Given the description of an element on the screen output the (x, y) to click on. 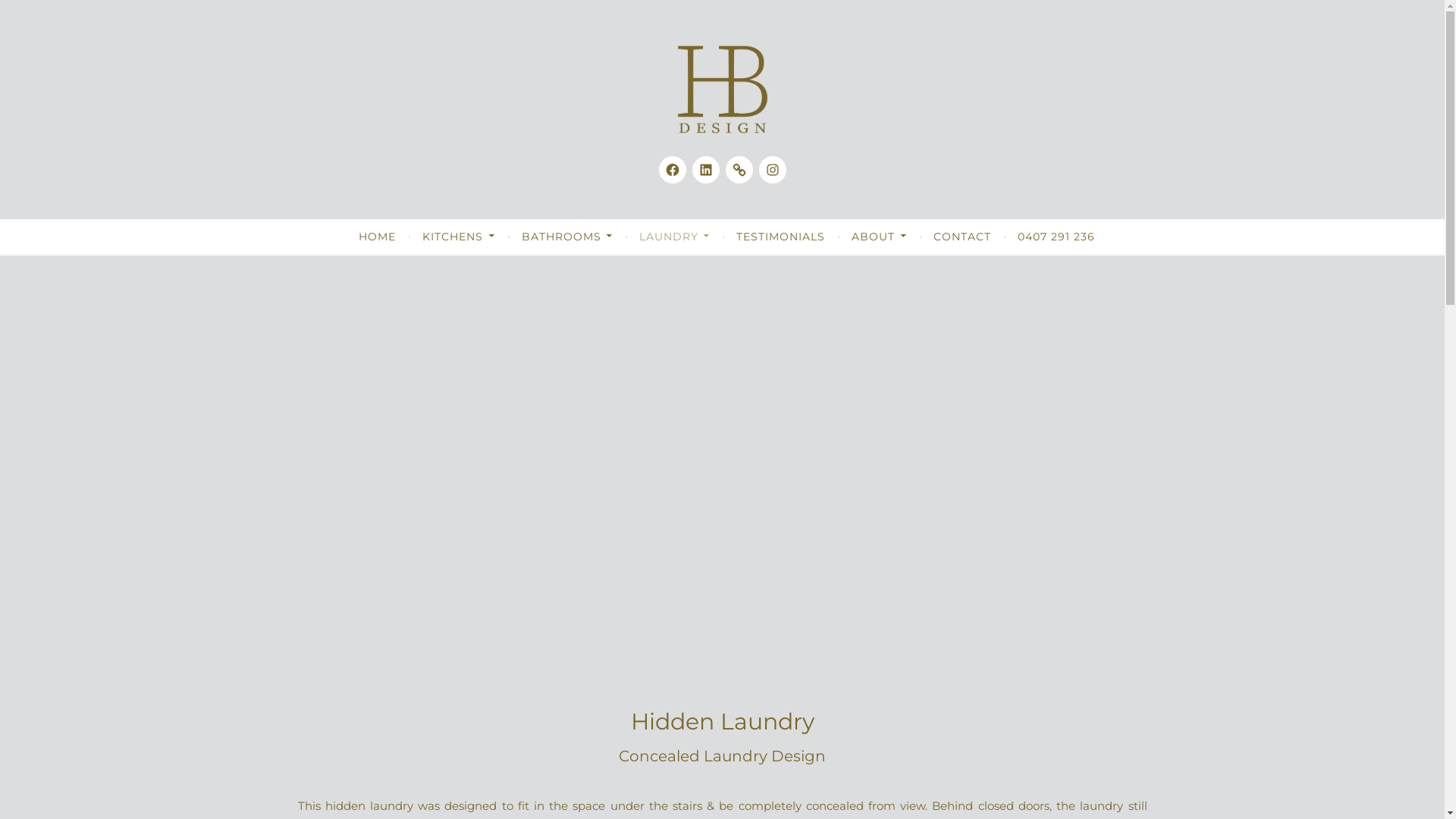
HOME Element type: text (376, 236)
TESTIMONIALS Element type: text (780, 236)
KITCHENS Element type: text (458, 236)
ABOUT Element type: text (878, 236)
0407 291 236 Element type: text (1056, 236)
BATHROOMS Element type: text (566, 236)
Follow Helen Baumann Design Element type: hover (704, 169)
Featured on Houzz Element type: hover (738, 169)
CONTACT Element type: text (962, 236)
@helenbaumanndesign Element type: hover (771, 169)
HB Design Element type: text (82, 163)
LAUNDRY Element type: text (674, 236)
